Given the description of an element on the screen output the (x, y) to click on. 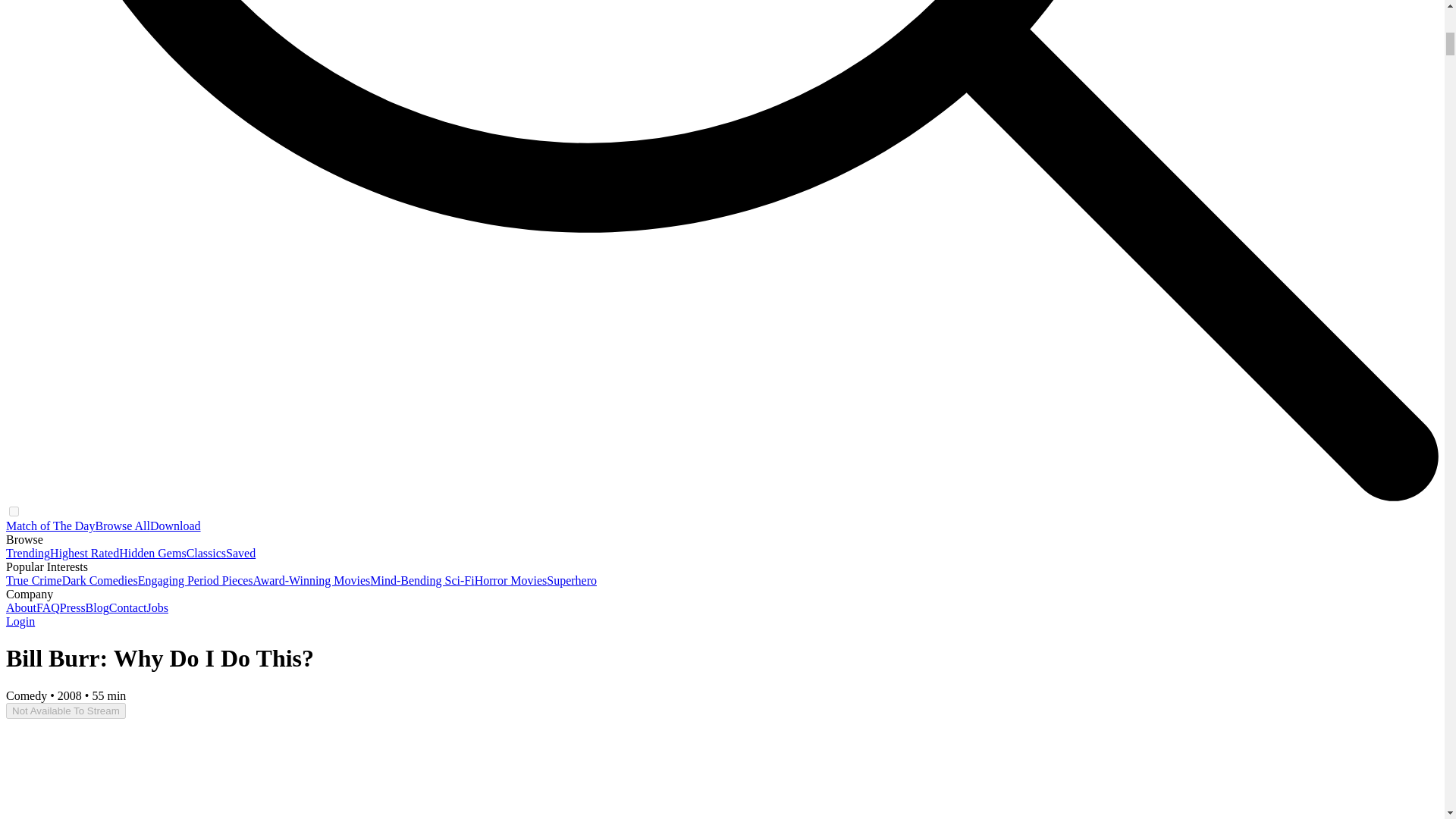
Download (174, 525)
Contact (128, 607)
Hidden Gems (152, 553)
Horror Movies (510, 580)
Match of The Day (49, 525)
Not Available To Stream (65, 710)
Dark Comedies (100, 580)
Award-Winning Movies (312, 580)
Classics (205, 553)
FAQ (47, 607)
